Given the description of an element on the screen output the (x, y) to click on. 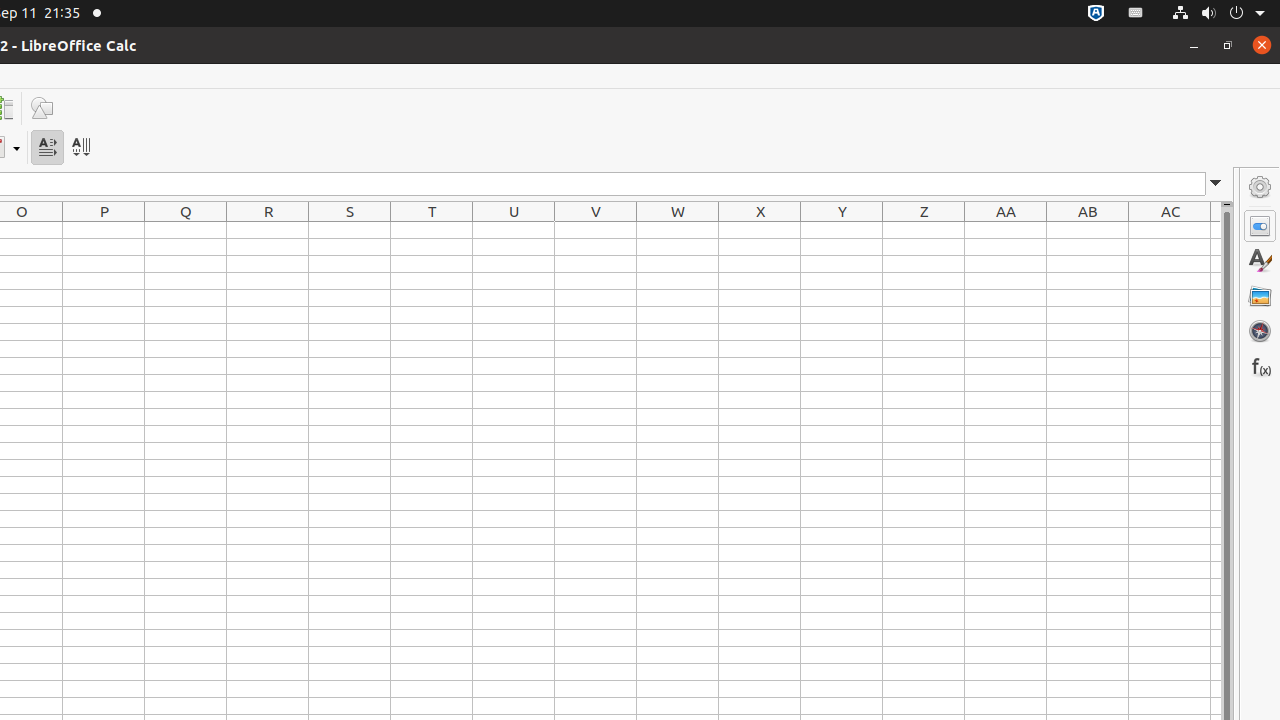
Draw Functions Element type: toggle-button (41, 108)
Z1 Element type: table-cell (924, 230)
